Given the description of an element on the screen output the (x, y) to click on. 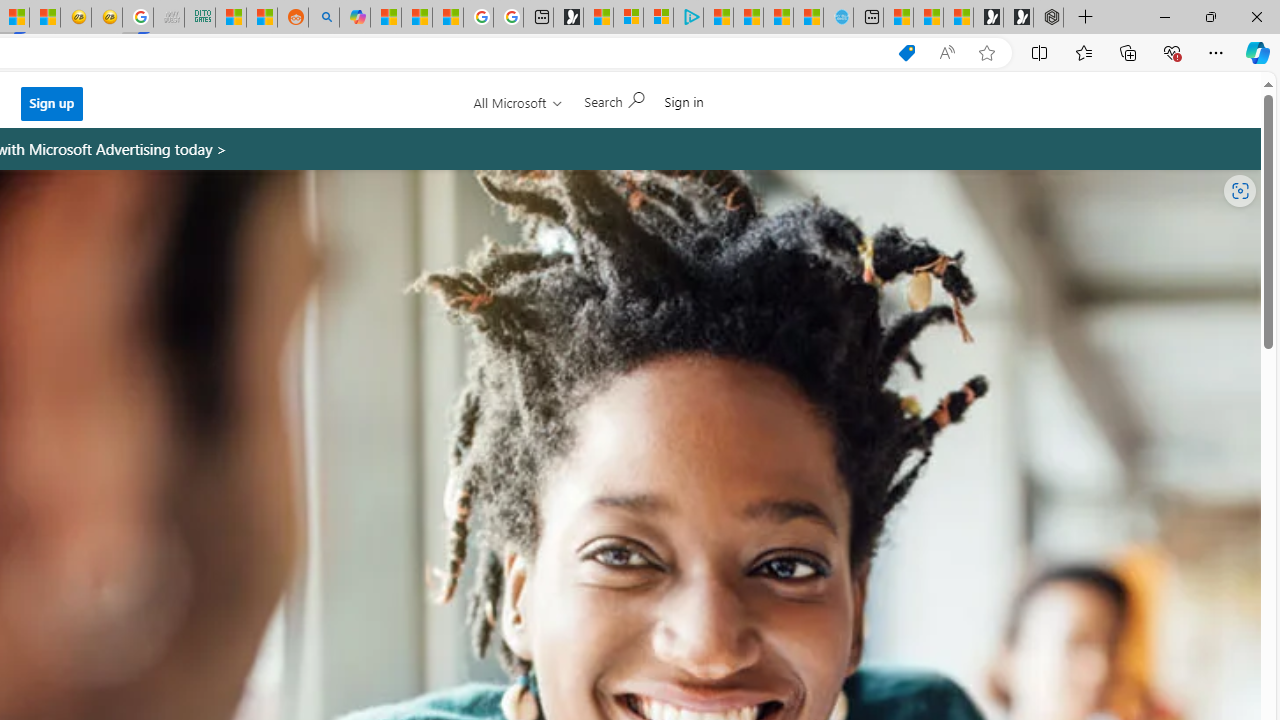
Microsoft Start Gaming (568, 17)
